Given the description of an element on the screen output the (x, y) to click on. 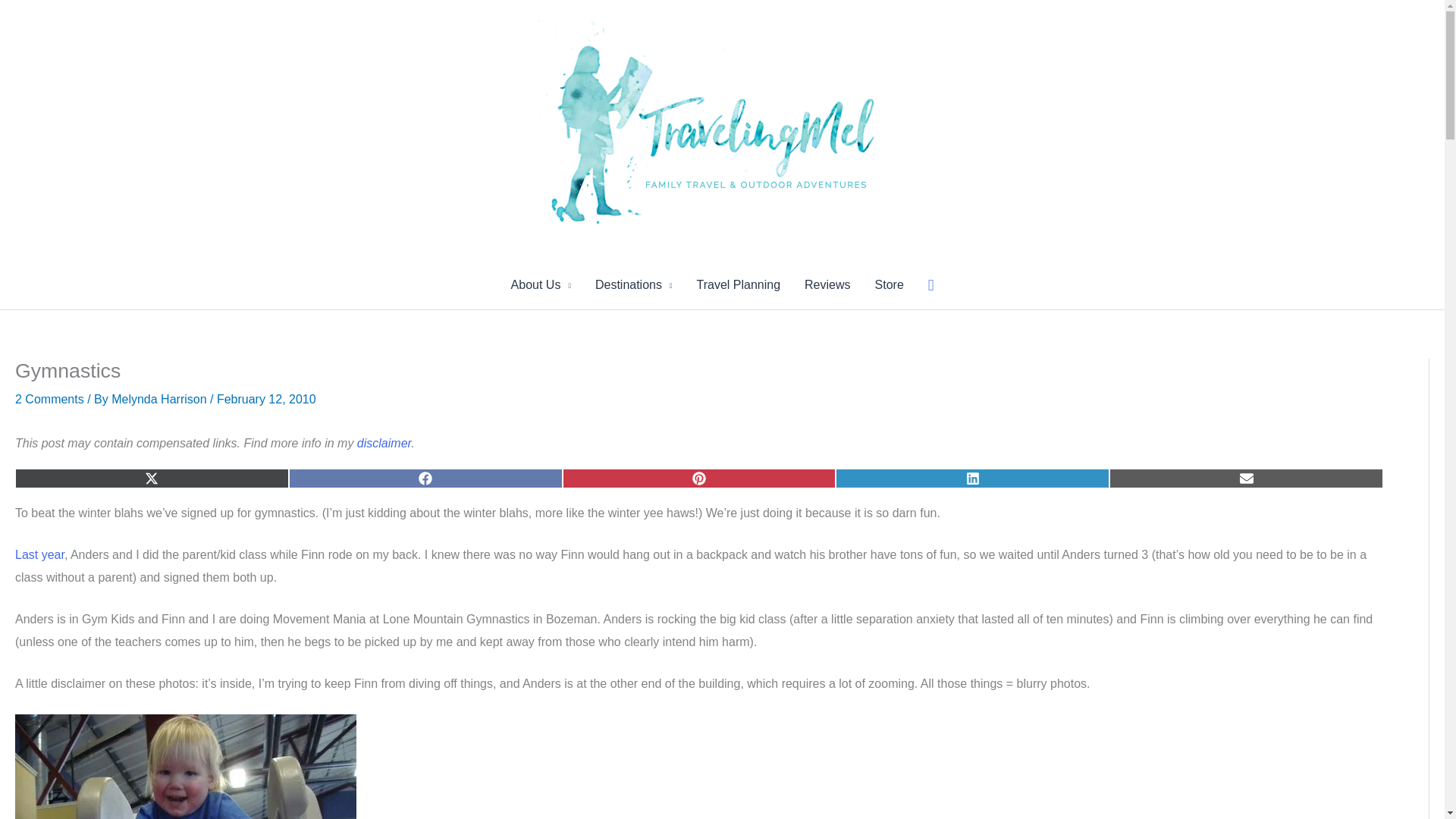
Melynda Harrison (160, 399)
disclaimer (383, 442)
Reviews (826, 285)
Store (889, 285)
About Us (541, 285)
2 Comments (49, 399)
Destinations (633, 285)
Share on Email (1246, 478)
View all posts by Melynda Harrison (160, 399)
Share on Facebook (425, 478)
Share on Pinterest (698, 478)
Last year (39, 554)
Share on LinkedIn (972, 478)
Travel Planning (738, 285)
